Given the description of an element on the screen output the (x, y) to click on. 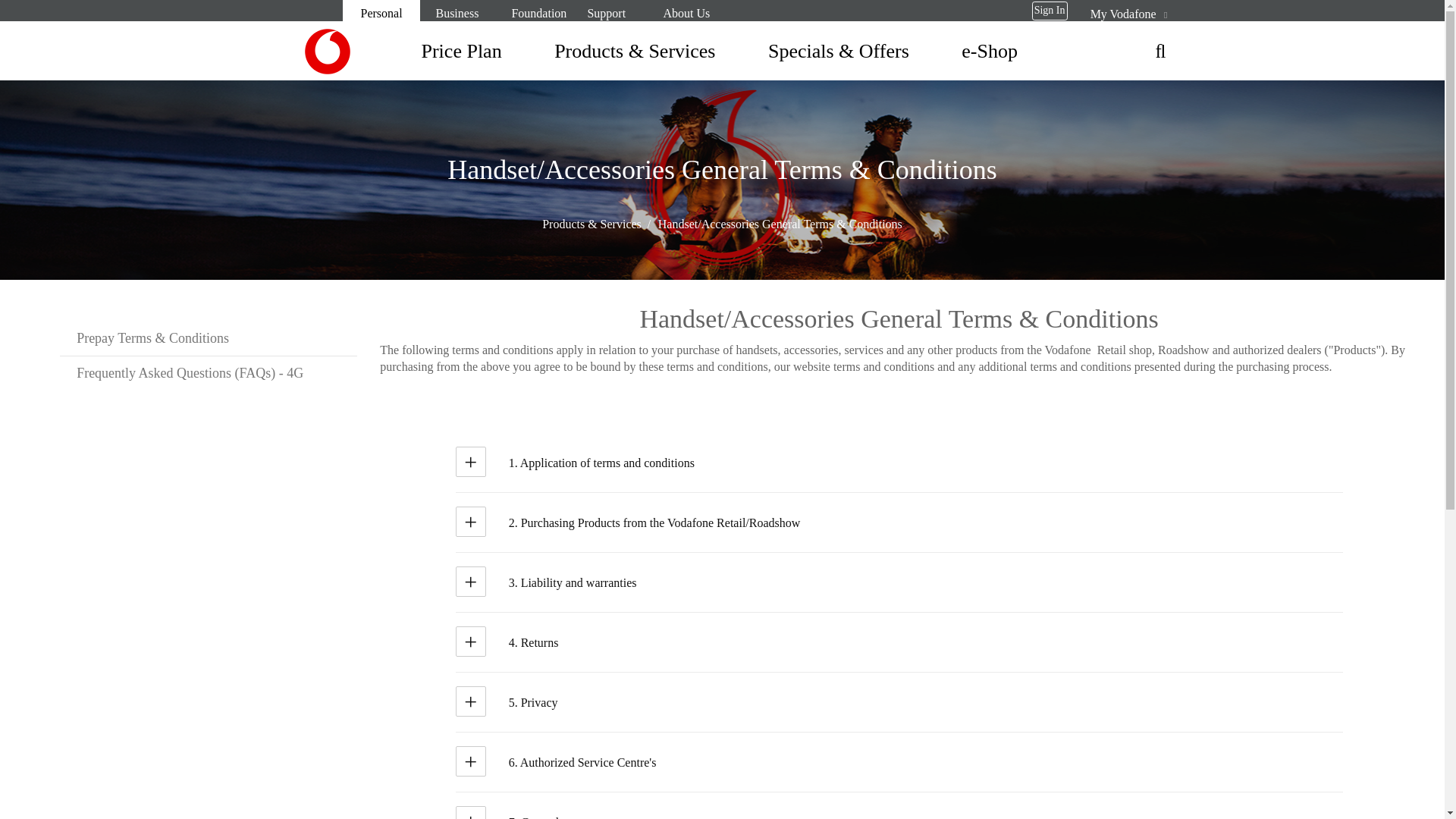
Price Plan (447, 51)
Support (605, 13)
Business (456, 13)
My Vodafone (1123, 14)
Personal (380, 13)
Foundation (538, 13)
About Us (686, 13)
